Given the description of an element on the screen output the (x, y) to click on. 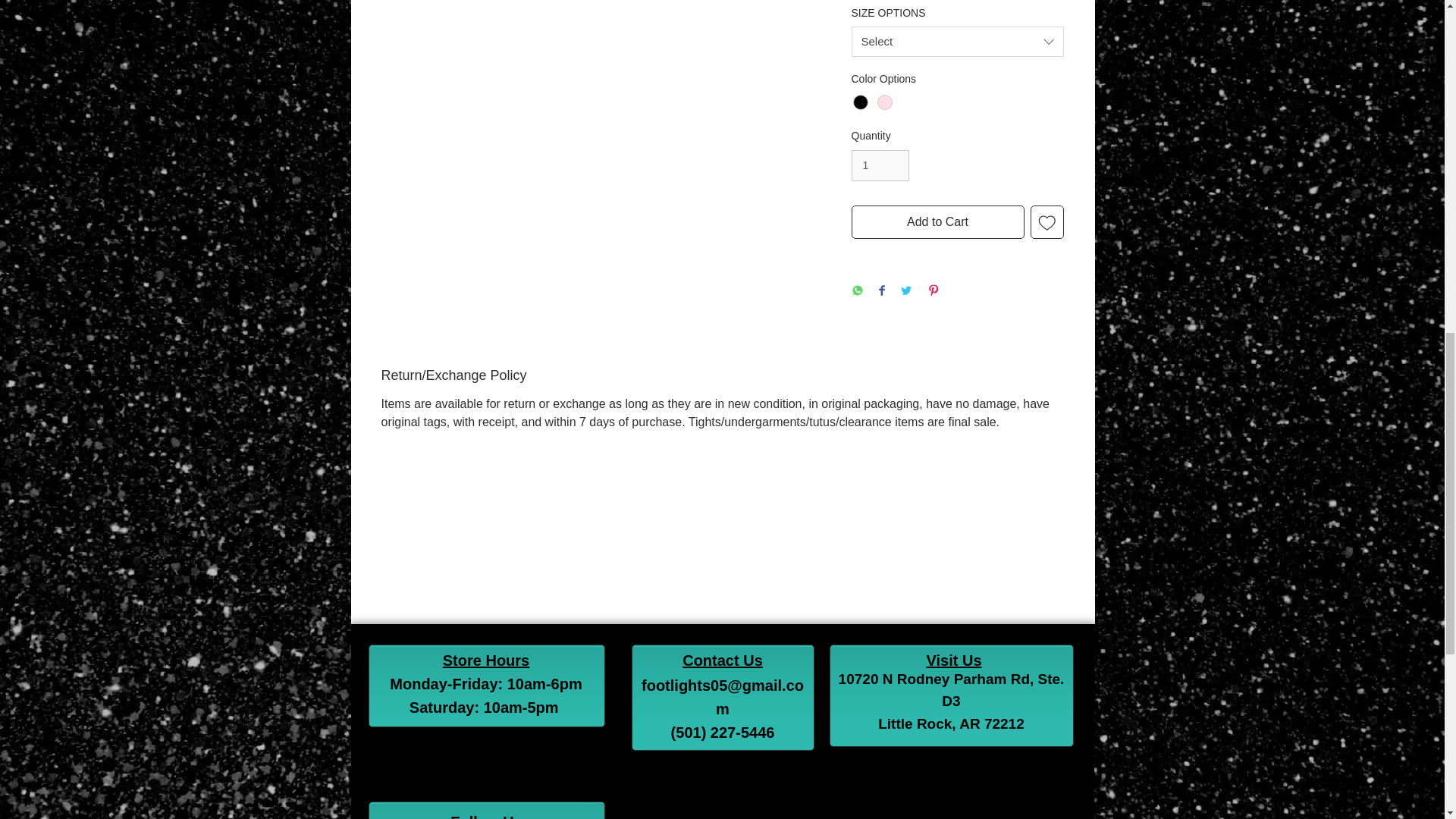
Add to Cart (936, 222)
1 (879, 164)
Google Maps (851, 810)
Select (956, 41)
